Given the description of an element on the screen output the (x, y) to click on. 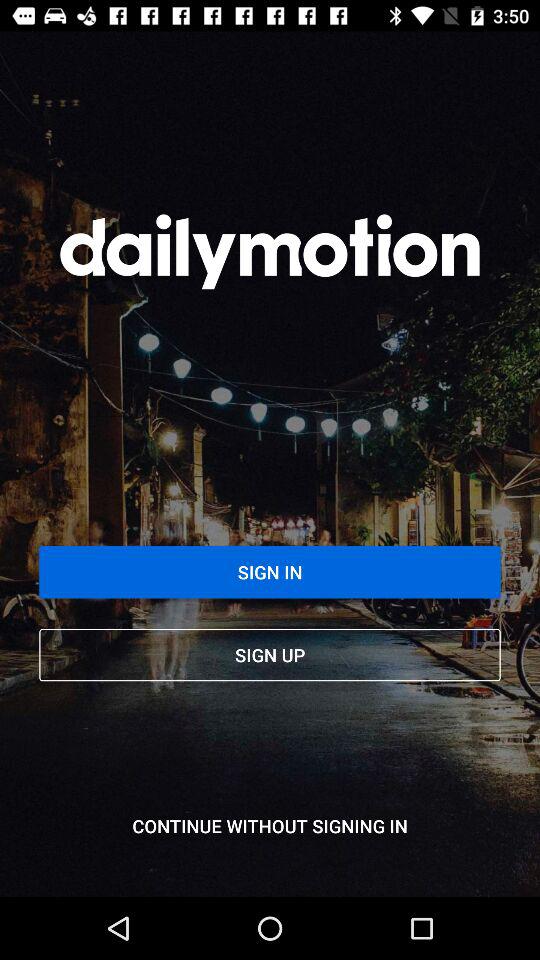
turn off icon below sign up (269, 825)
